Given the description of an element on the screen output the (x, y) to click on. 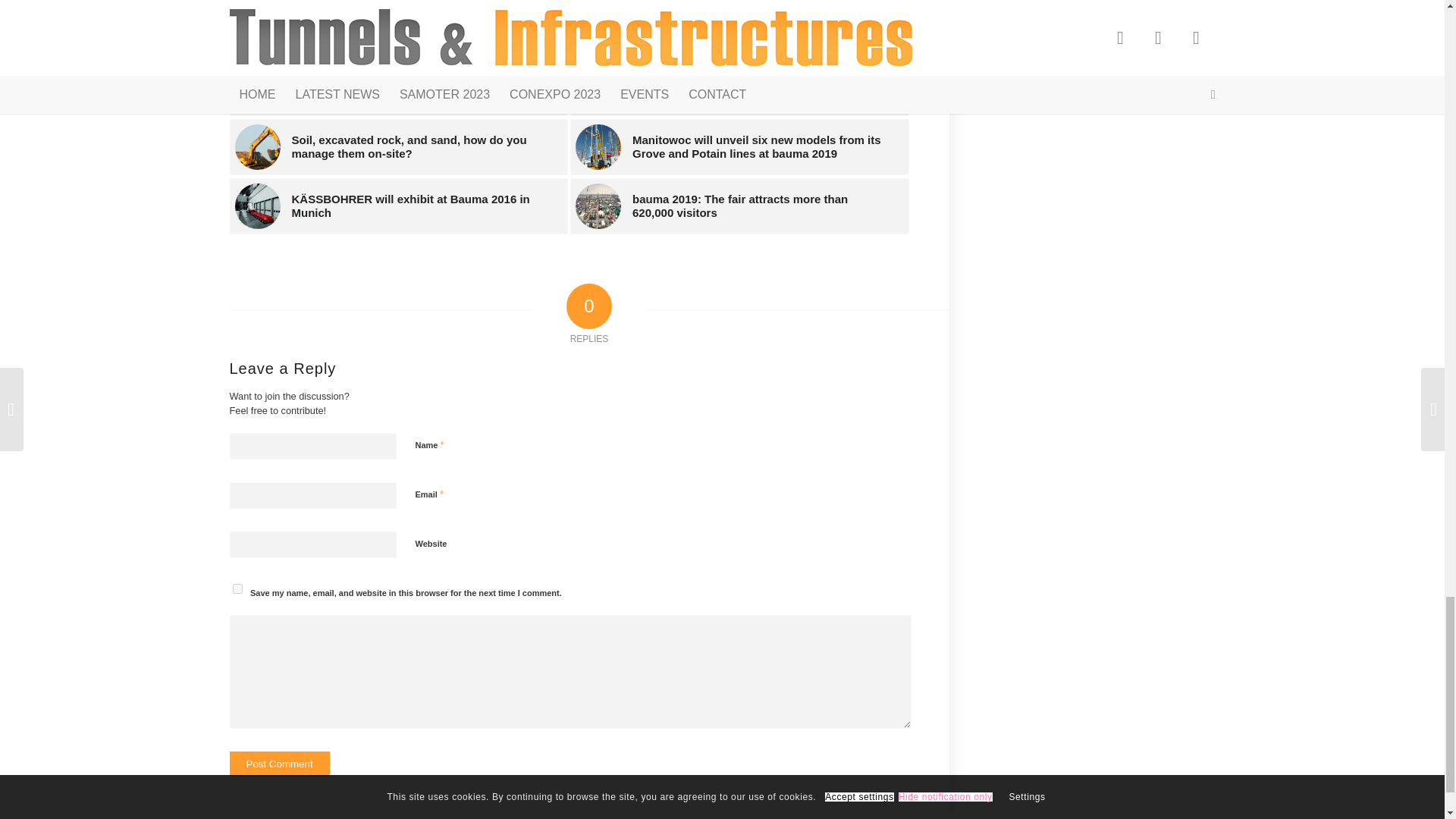
Post Comment (278, 763)
yes (236, 588)
1 (423, 620)
